Given the description of an element on the screen output the (x, y) to click on. 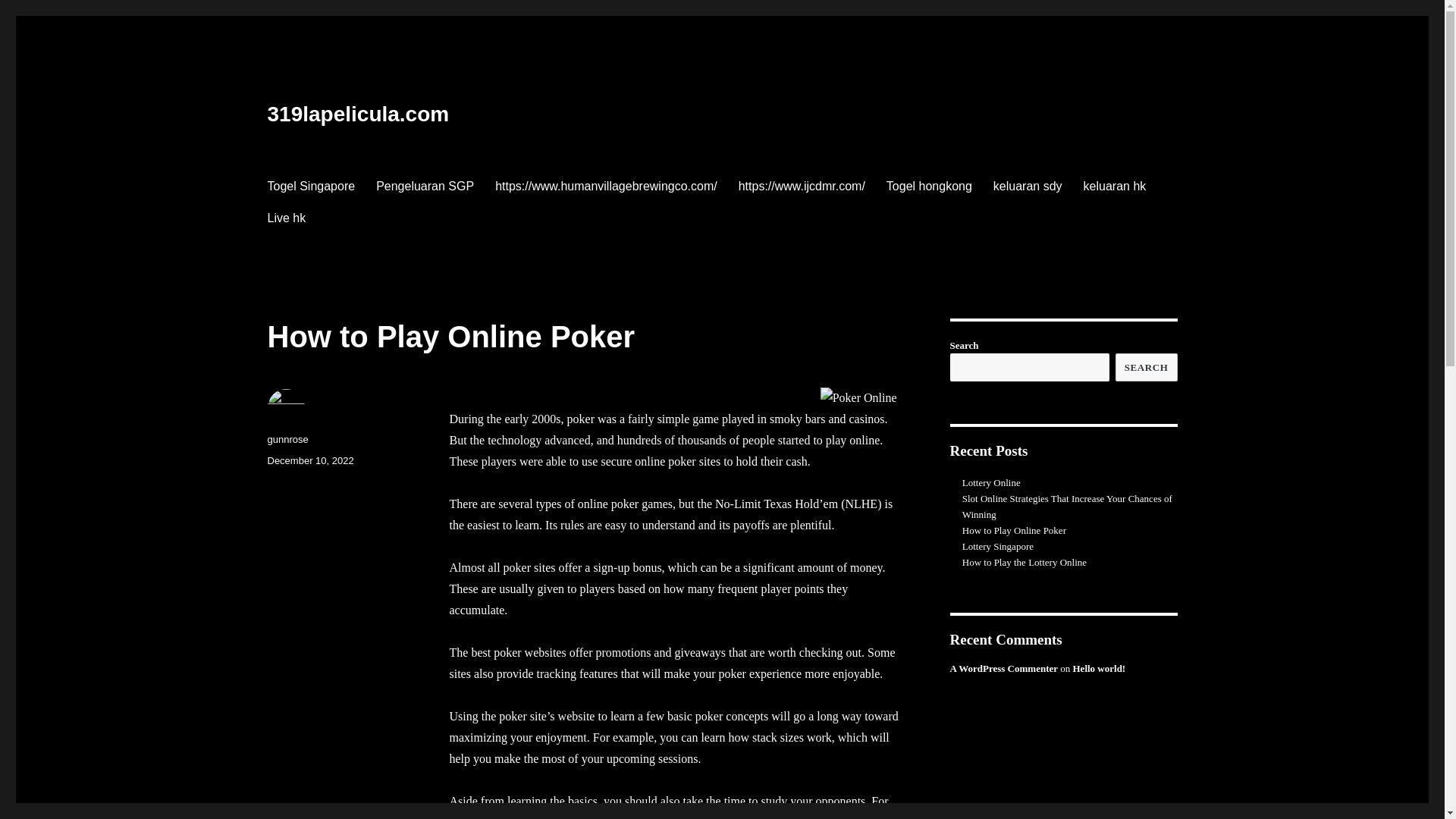
https://www.humanvillagebrewingco.com/ Element type: text (606, 185)
December 10, 2022 Element type: text (309, 460)
How to Play the Lottery Online Element type: text (1024, 561)
Hello world! Element type: text (1098, 668)
keluaran sdy Element type: text (1027, 185)
Lottery Singapore Element type: text (997, 546)
How to Play Online Poker Element type: text (1014, 530)
SEARCH Element type: text (1146, 367)
gunnrose Element type: text (286, 439)
Togel Singapore Element type: text (310, 185)
https://www.ijcdmr.com/ Element type: text (801, 185)
Pengeluaran SGP Element type: text (424, 185)
Lottery Online Element type: text (991, 482)
A WordPress Commenter Element type: text (1003, 668)
319lapelicula.com Element type: text (357, 113)
keluaran hk Element type: text (1115, 185)
Live hk Element type: text (286, 217)
Slot Online Strategies That Increase Your Chances of Winning Element type: text (1067, 506)
Togel hongkong Element type: text (928, 185)
